Given the description of an element on the screen output the (x, y) to click on. 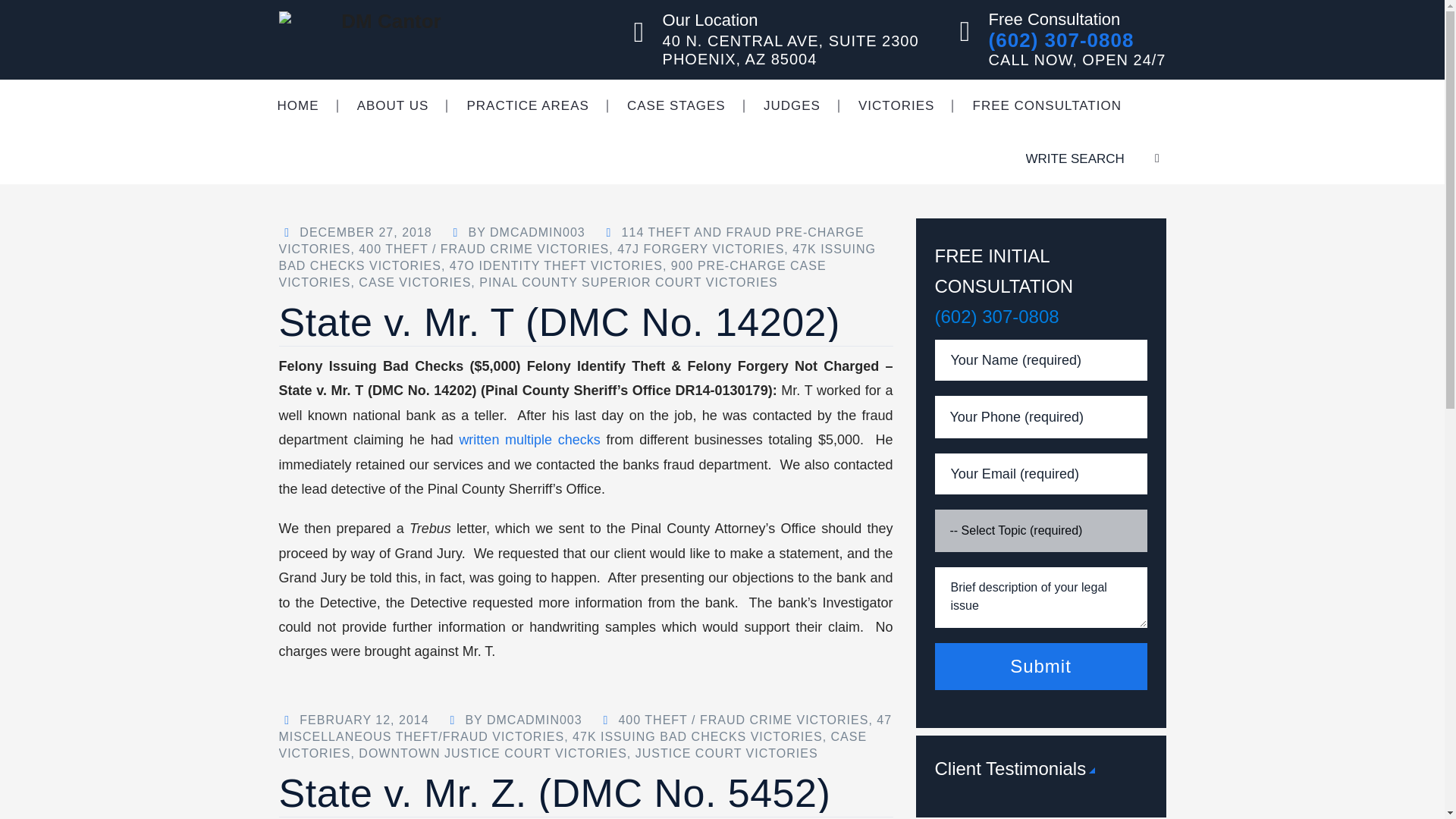
HOME (297, 105)
DOWNTOWN JUSTICE COURT VICTORIES (492, 753)
47K ISSUING BAD CHECKS VICTORIES (697, 736)
47K ISSUING BAD CHECKS VICTORIES (577, 256)
CASE VICTORIES (414, 282)
CASE VICTORIES (573, 745)
DMCADMIN003 (537, 232)
JUDGES (791, 105)
ABOUT US (392, 105)
DMCADMIN003 (534, 719)
FREE CONSULTATION (1046, 105)
written multiple checks (528, 439)
900 PRE-CHARGE CASE VICTORIES (553, 274)
VICTORIES (896, 105)
Search Icon (1139, 158)
